Given the description of an element on the screen output the (x, y) to click on. 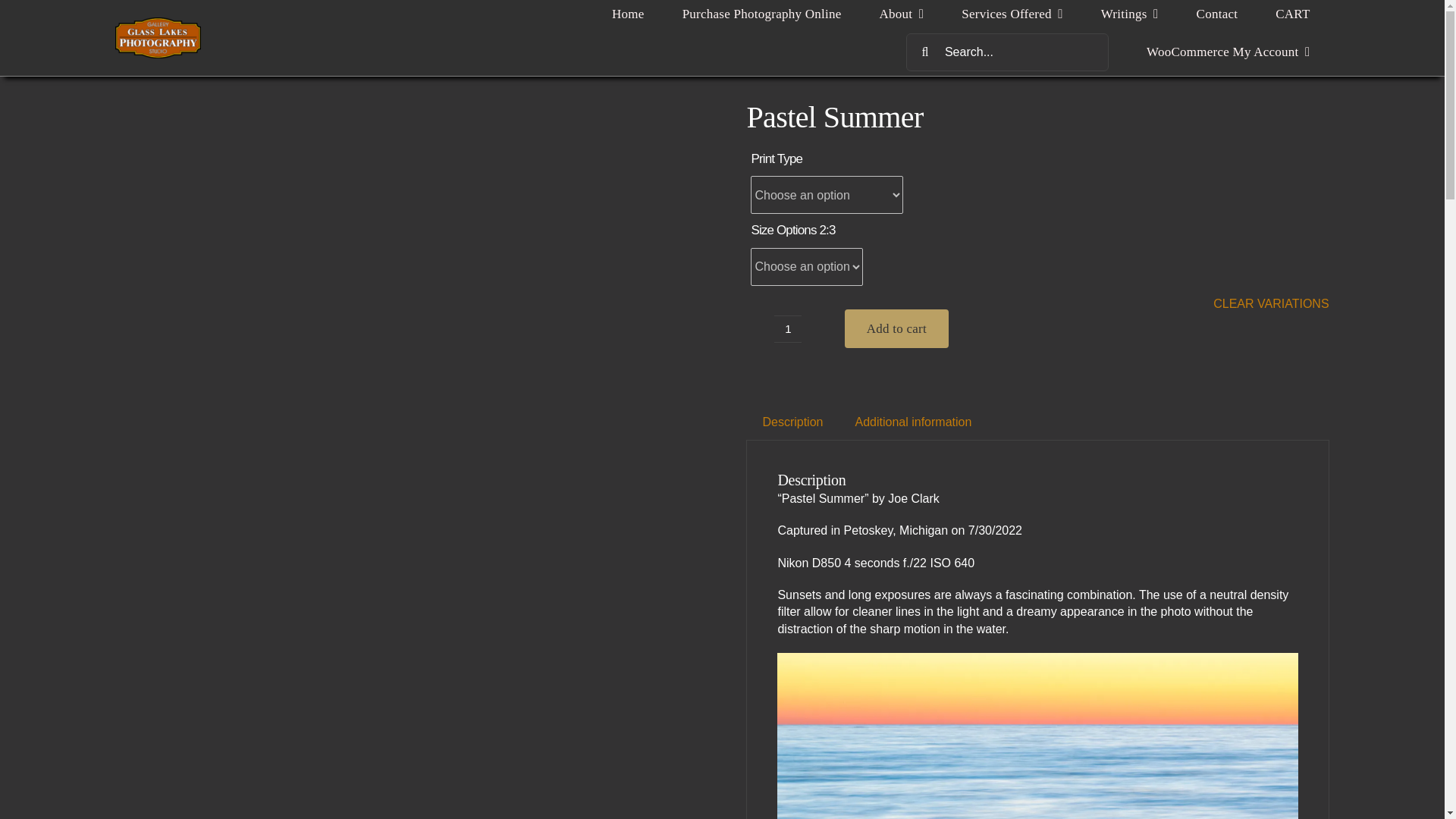
CART (1291, 14)
Home (627, 14)
Writings (1129, 14)
Services Offered (1011, 14)
1 (788, 329)
About (901, 14)
Log In (1291, 224)
Contact (1217, 14)
Pastel Summer by Joe Clark American landscape Photographer (1037, 735)
Purchase Photography Online (761, 14)
